Given the description of an element on the screen output the (x, y) to click on. 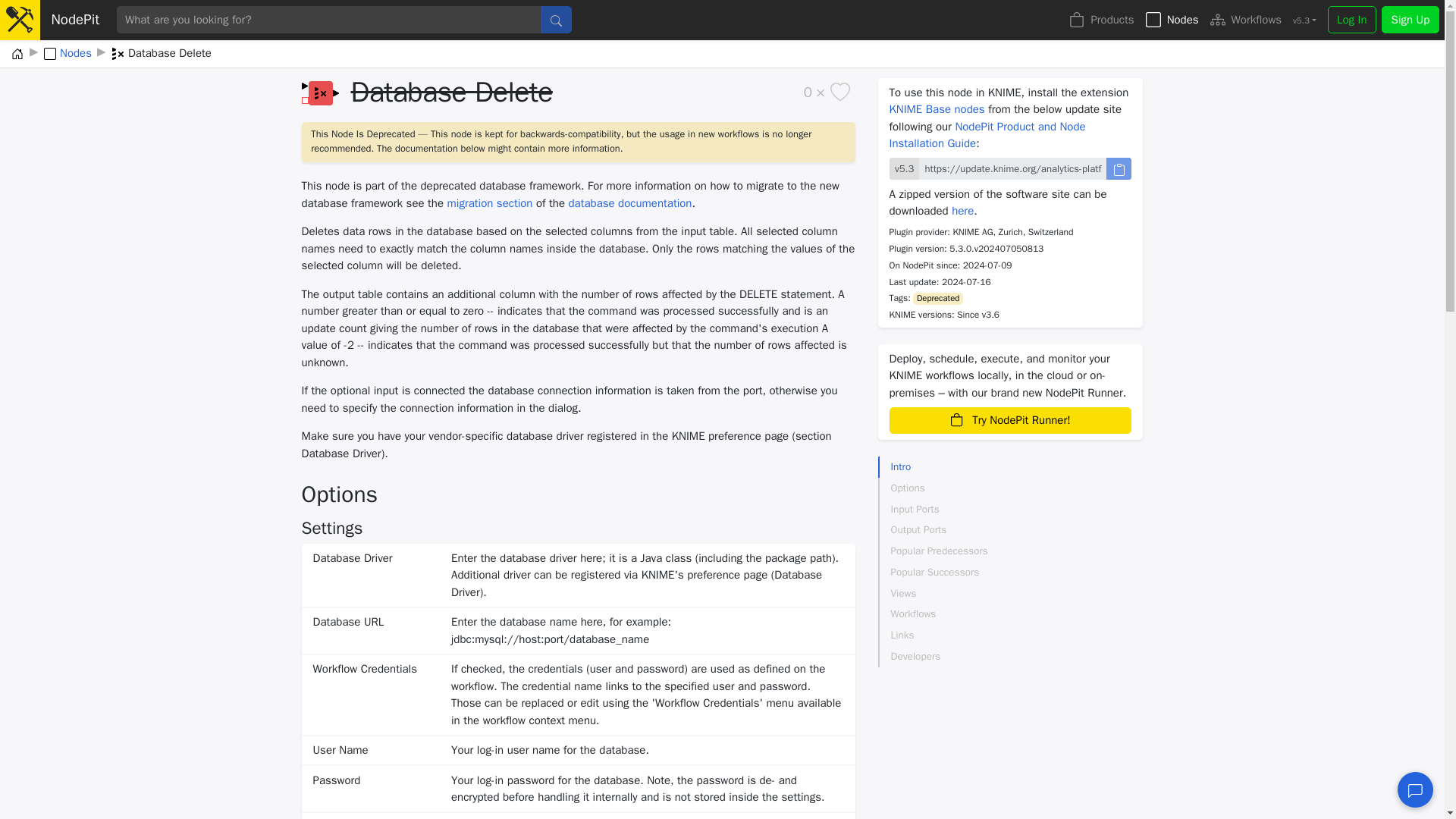
database documentation (631, 202)
v5.3 (1304, 21)
Products (1102, 20)
migration section (489, 202)
Workflows (1245, 20)
NodePit (80, 20)
Home (17, 54)
Select your KNIME version (1304, 21)
Log In (1351, 19)
Sign Up (1409, 19)
Nodes (67, 54)
Nodes (1172, 20)
